Given the description of an element on the screen output the (x, y) to click on. 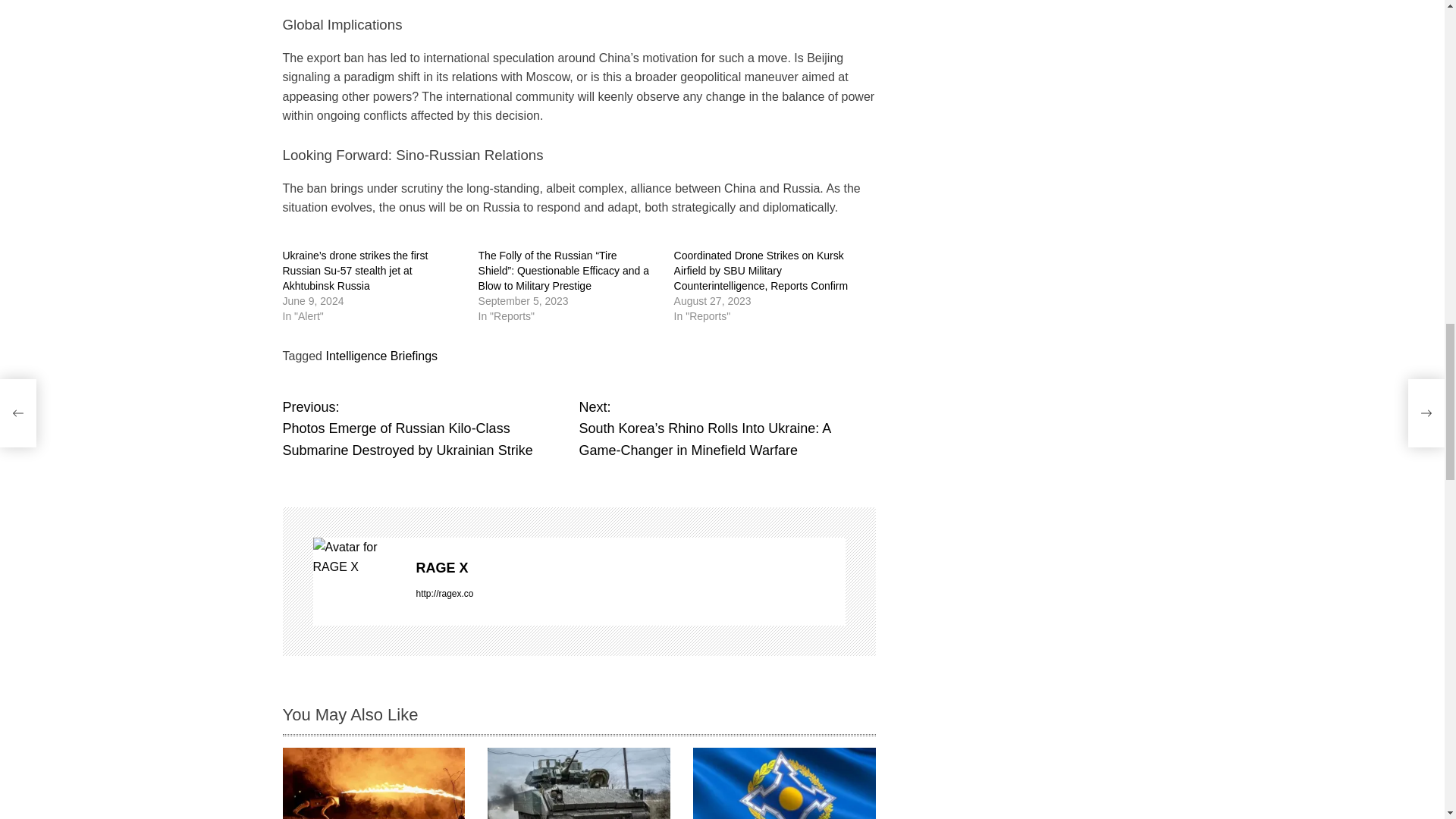
RAGE X (356, 581)
Intelligence Briefings (381, 355)
RAGE X (629, 568)
